Given the description of an element on the screen output the (x, y) to click on. 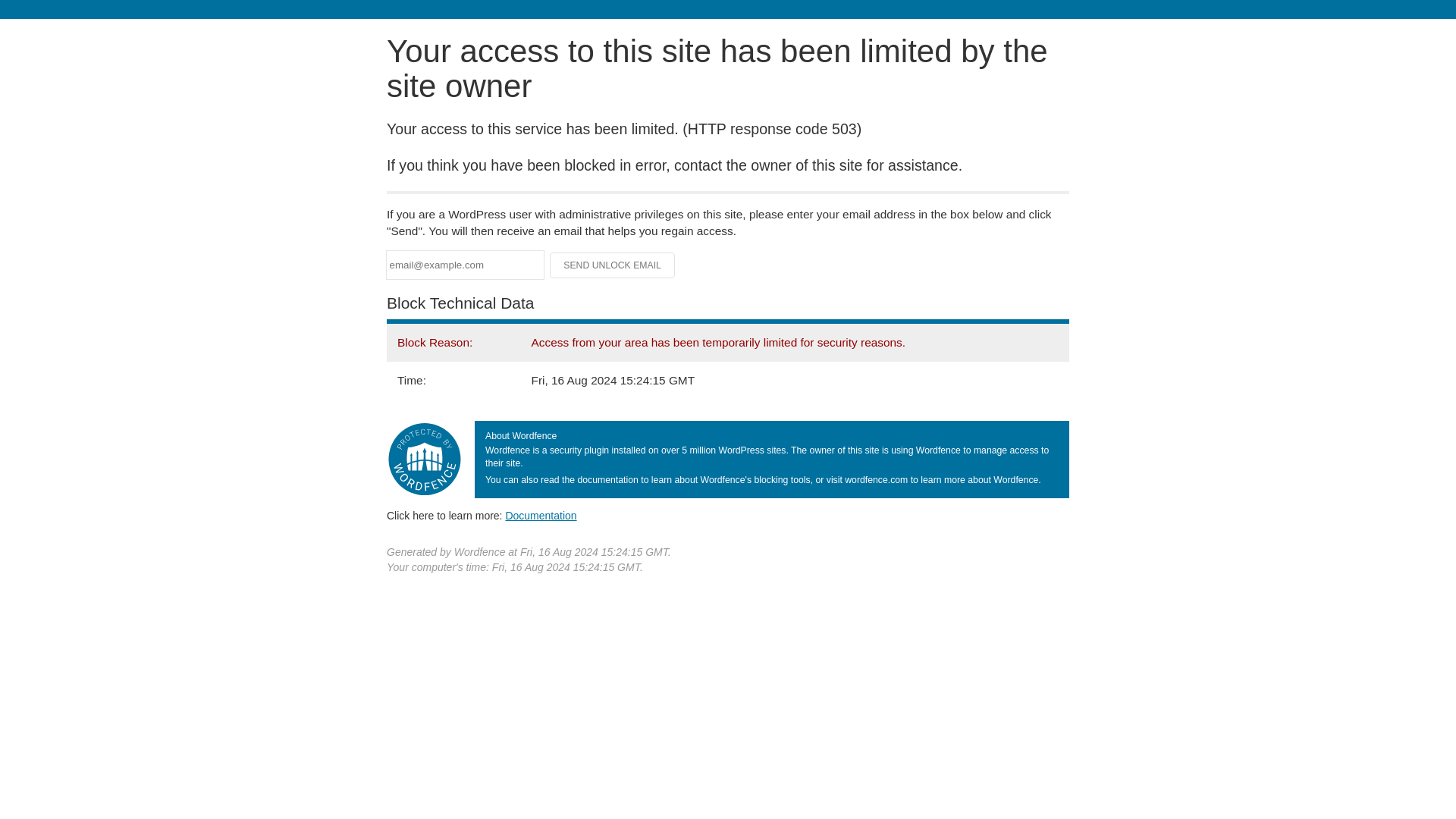
Send Unlock Email (612, 265)
Documentation (540, 515)
Send Unlock Email (612, 265)
